Given the description of an element on the screen output the (x, y) to click on. 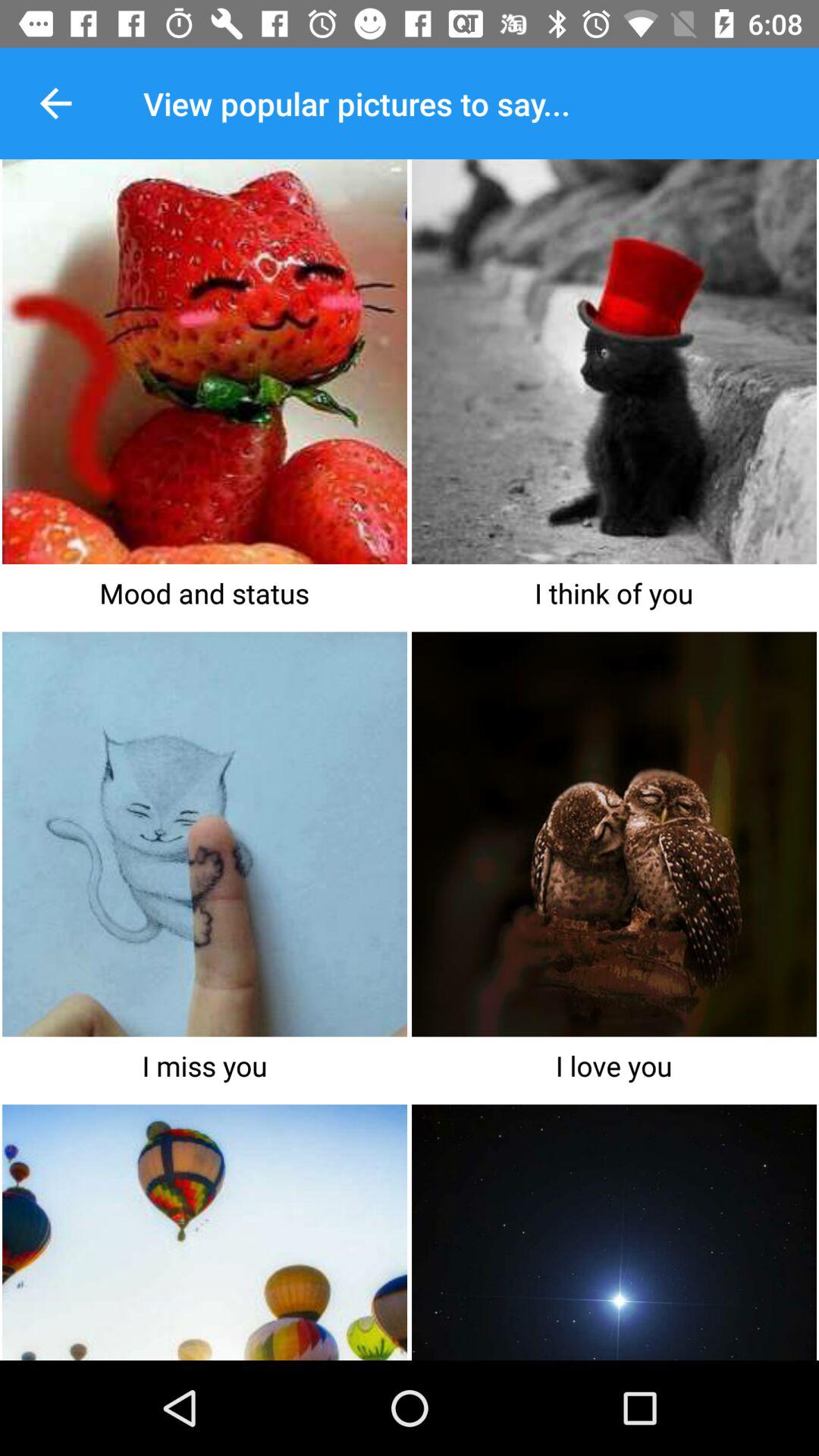
tap item to the left of view popular pictures item (55, 103)
